Given the description of an element on the screen output the (x, y) to click on. 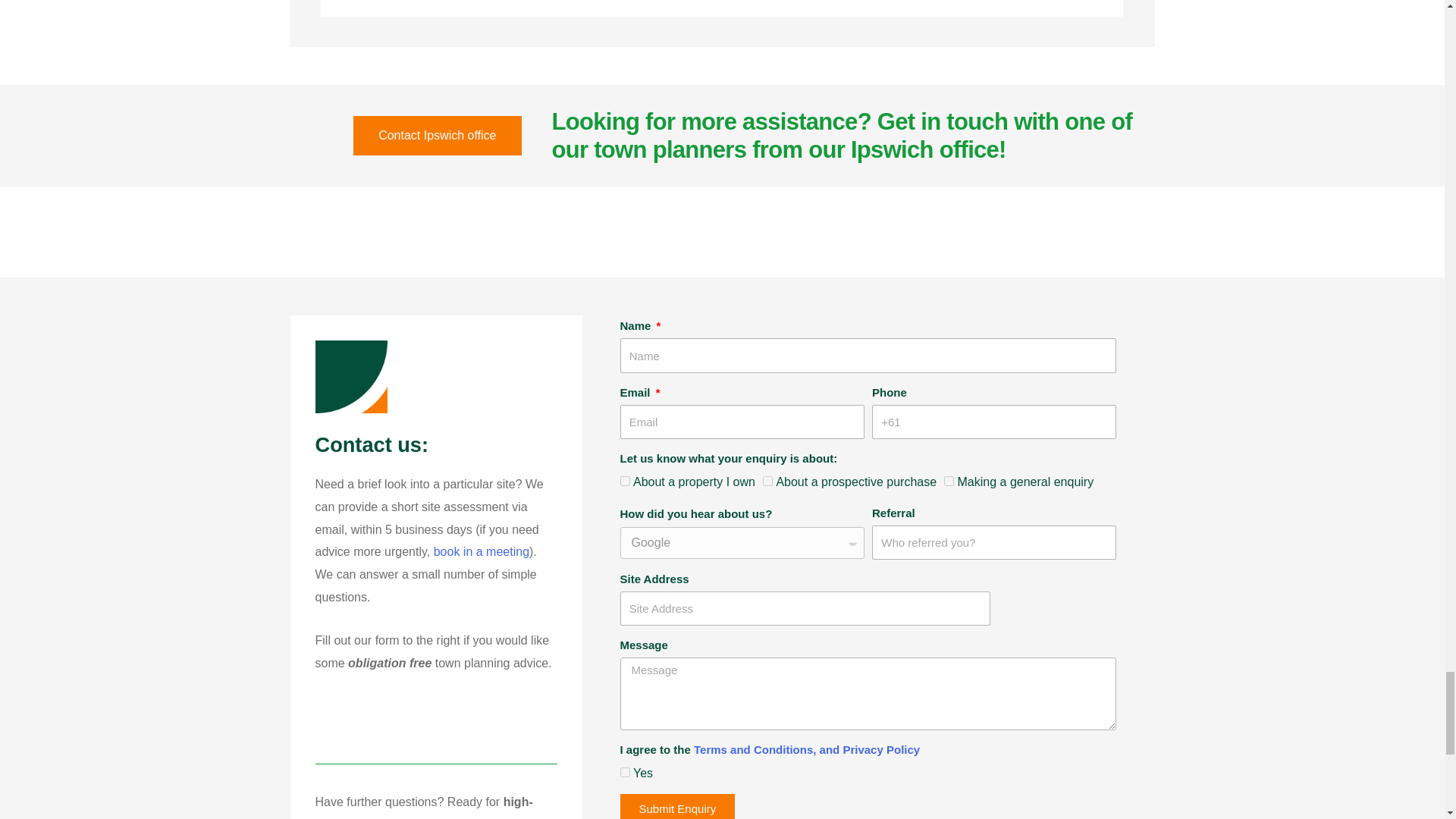
Yes (625, 772)
Making a general enquiry (948, 480)
About a property I own (625, 480)
About a prospective purchase (767, 480)
